Given the description of an element on the screen output the (x, y) to click on. 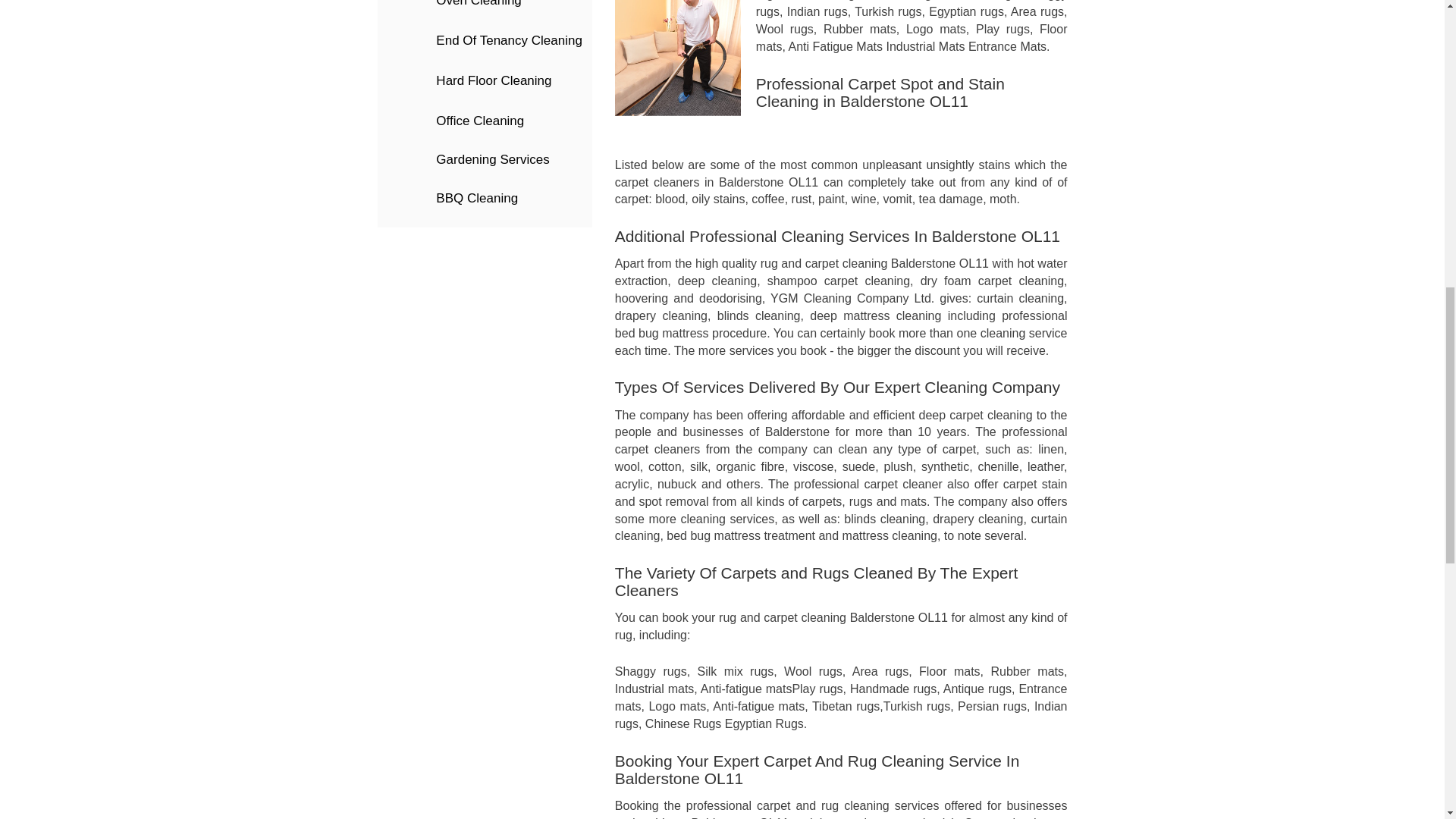
Oven Cleaning (484, 10)
Hard Floor Cleaning (484, 81)
End Of Tenancy Cleaning (484, 41)
Gardening Services (484, 160)
Office Cleaning (484, 121)
